Given the description of an element on the screen output the (x, y) to click on. 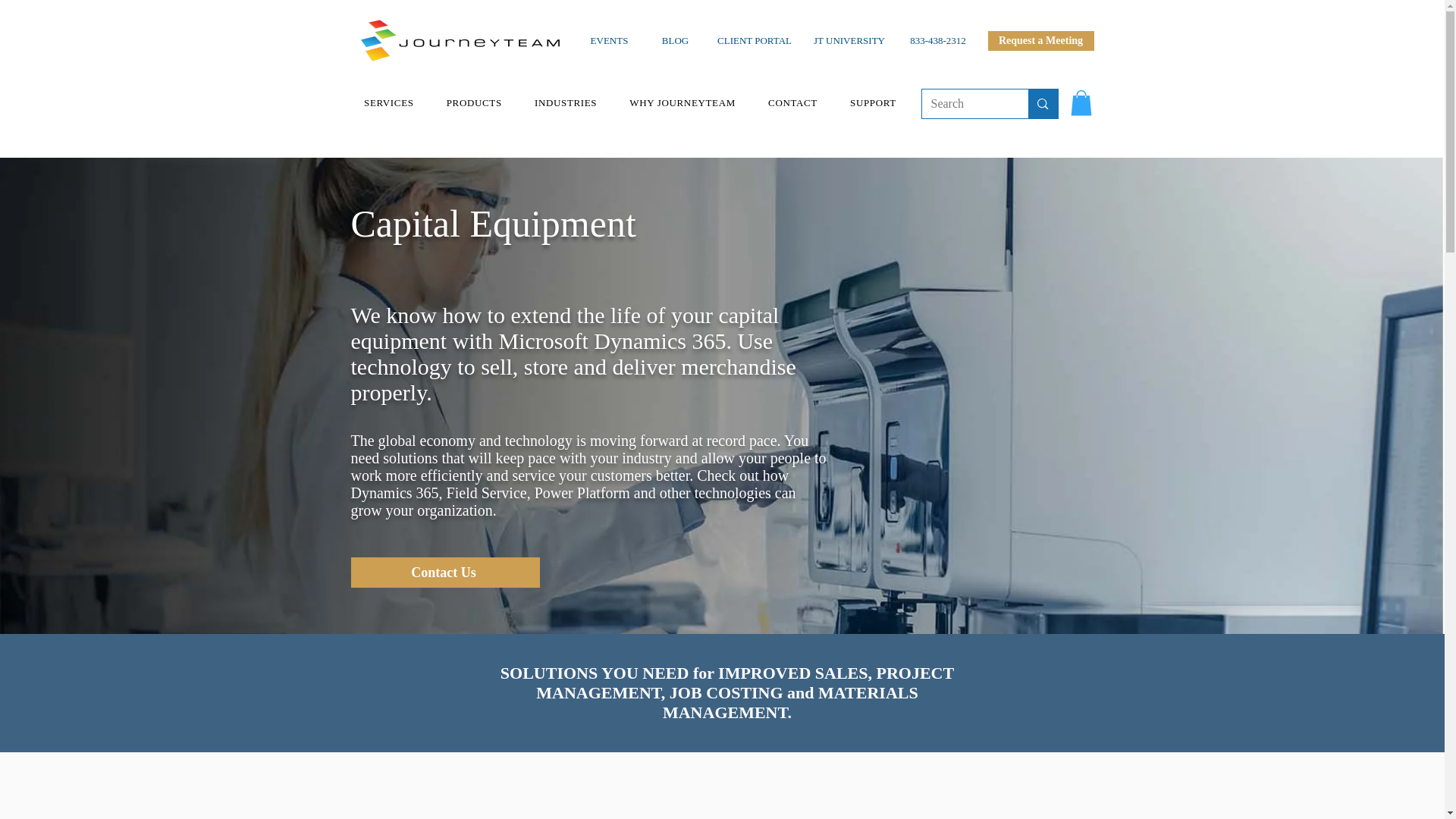
CLIENT PORTAL (754, 40)
EVENTS (609, 40)
833-438-2312 (937, 40)
Request a Meeting (1040, 40)
JT UNIVERSITY (848, 40)
BLOG (675, 40)
JourneyTEAM Logo Horizontal Black Text (459, 40)
